Given the description of an element on the screen output the (x, y) to click on. 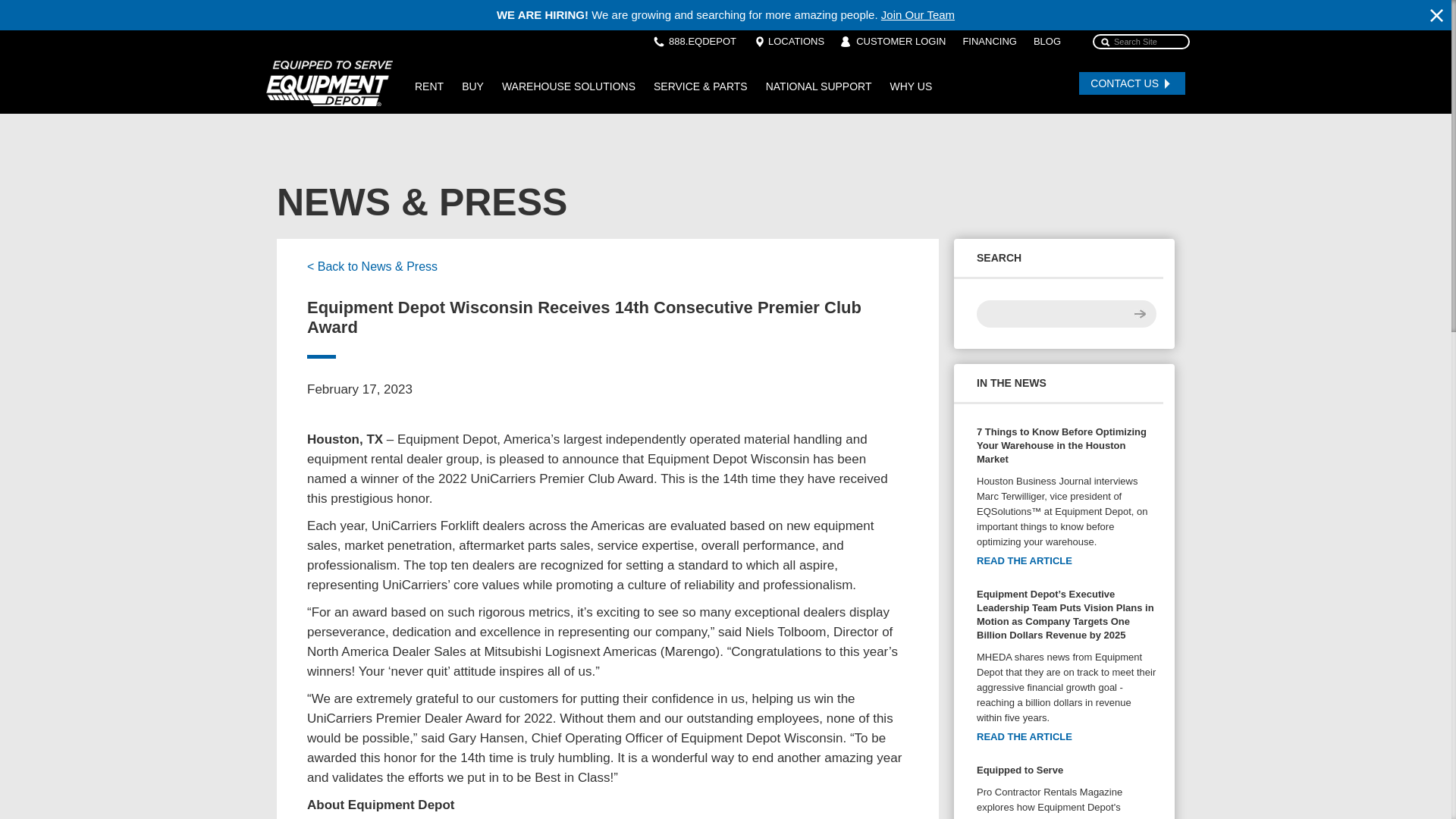
BLOG (1047, 41)
Join Our Team (917, 14)
LOCATIONS (796, 41)
BUY (472, 87)
RENT (429, 87)
FINANCING (989, 41)
WAREHOUSE SOLUTIONS (569, 87)
CUSTOMER LOGIN (900, 41)
